Given the description of an element on the screen output the (x, y) to click on. 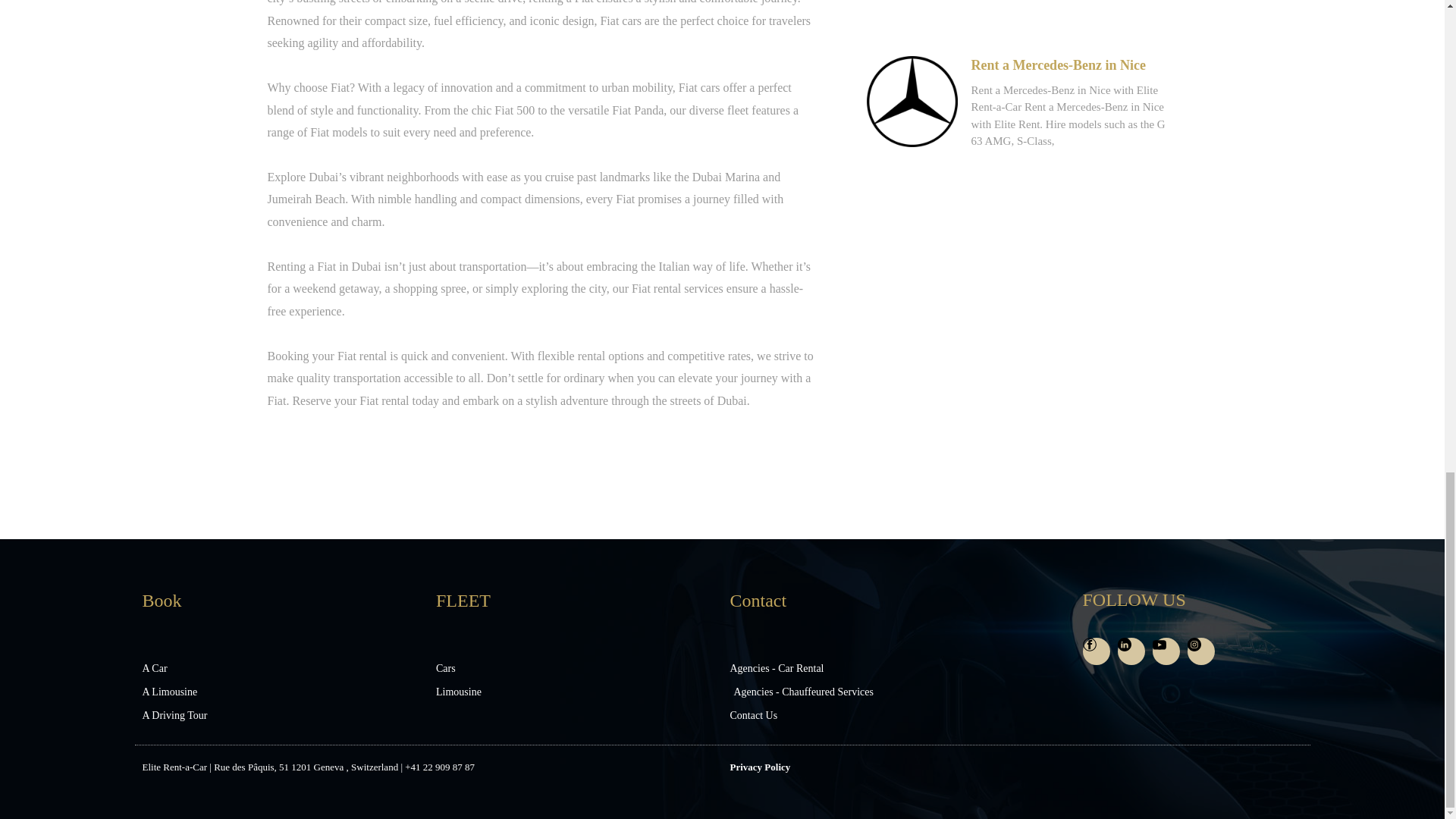
Agencies - Car Rental (869, 668)
A Car (282, 668)
Rent a Mercedes-Benz in Nice (1058, 64)
A Limousine (282, 691)
Contact Us (869, 715)
A Driving Tour (282, 715)
Limousine (574, 691)
Cars (574, 668)
Agencies - Chauffeured Services (869, 691)
